Given the description of an element on the screen output the (x, y) to click on. 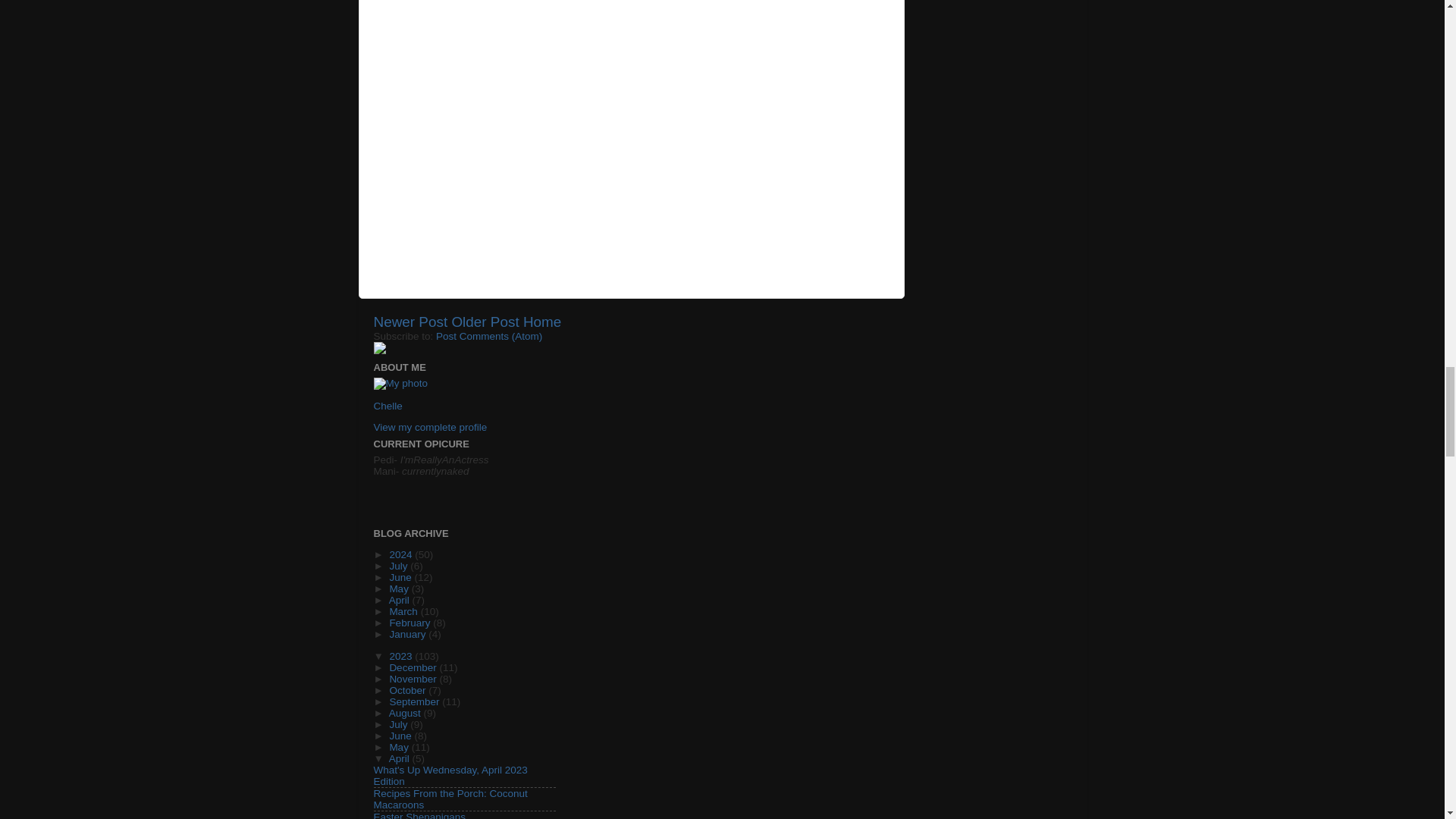
Home (541, 321)
April (400, 600)
Older Post (484, 321)
February (410, 622)
March (404, 611)
January (408, 633)
July (399, 565)
Newer Post (409, 321)
Older Post (484, 321)
Newer Post (409, 321)
Chelle (386, 405)
View my complete profile (429, 427)
June (400, 577)
May (399, 588)
2023 (401, 655)
